Given the description of an element on the screen output the (x, y) to click on. 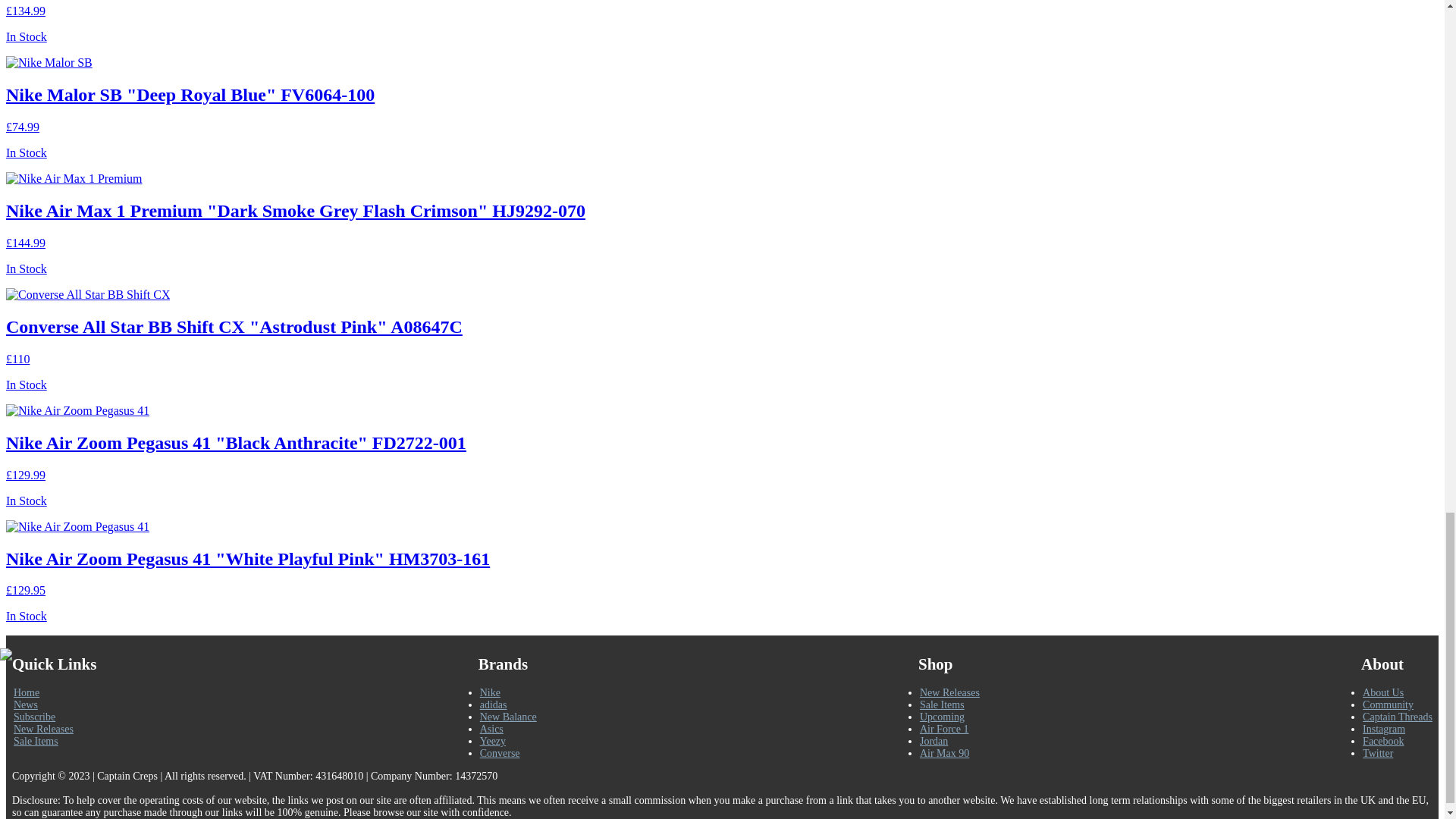
New Releases (43, 728)
News (25, 704)
Home (26, 692)
adidas (493, 704)
Nike (490, 692)
Subscribe (34, 716)
Sale Items (35, 740)
New Balance (508, 716)
